Given the description of an element on the screen output the (x, y) to click on. 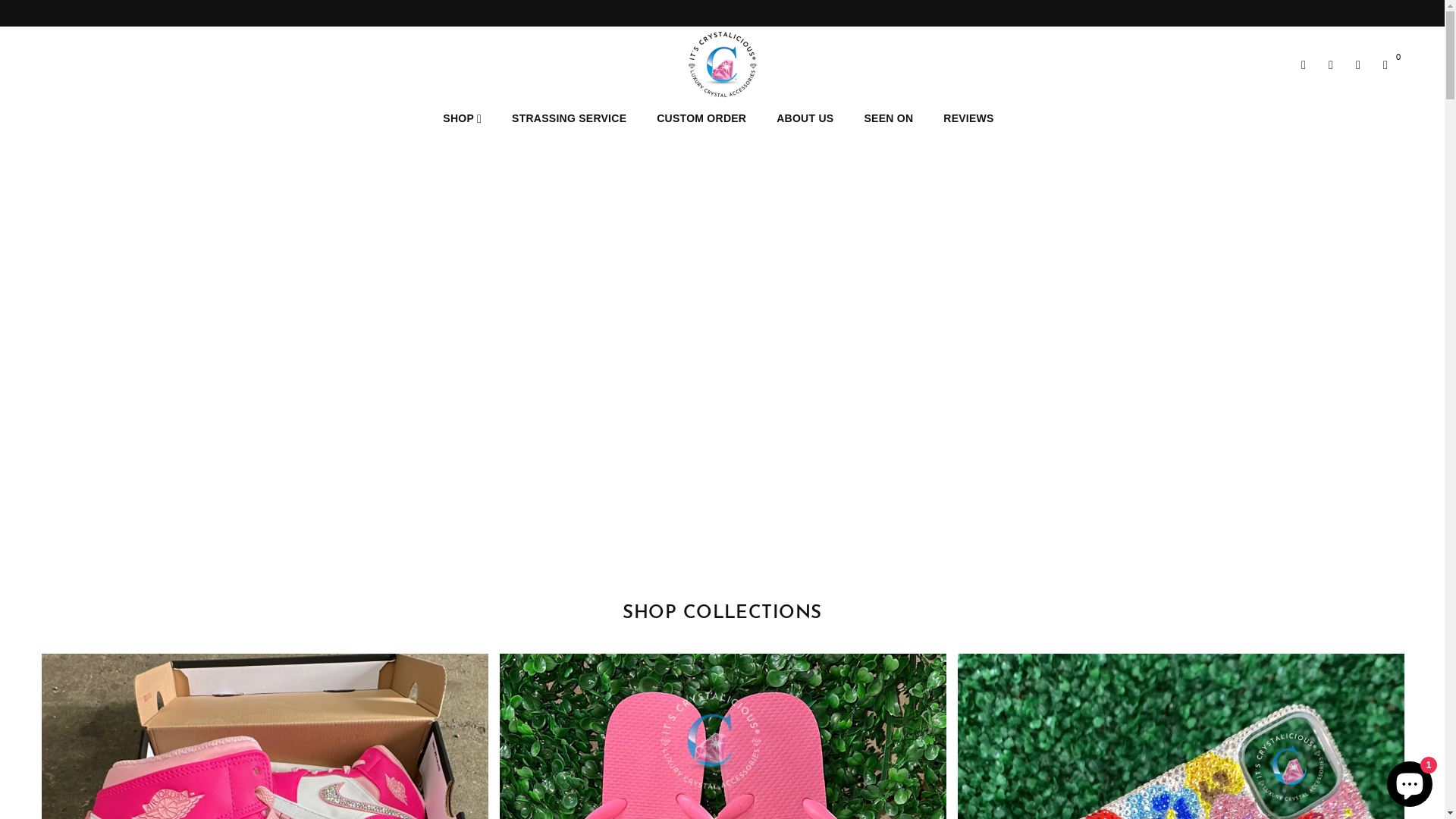
0 Element type: text (1385, 64)
Search Element type: hover (1303, 64)
Wishlist Element type: hover (1357, 64)
Settings Element type: hover (1330, 64)
STRASSING SERVICE Element type: text (568, 118)
SEEN ON Element type: text (888, 118)
SHOP Element type: text (461, 118)
CUSTOM ORDER Element type: text (701, 118)
REVIEWS Element type: text (967, 118)
ABOUT US Element type: text (804, 118)
Shopify online store chat Element type: hover (1409, 780)
